Given the description of an element on the screen output the (x, y) to click on. 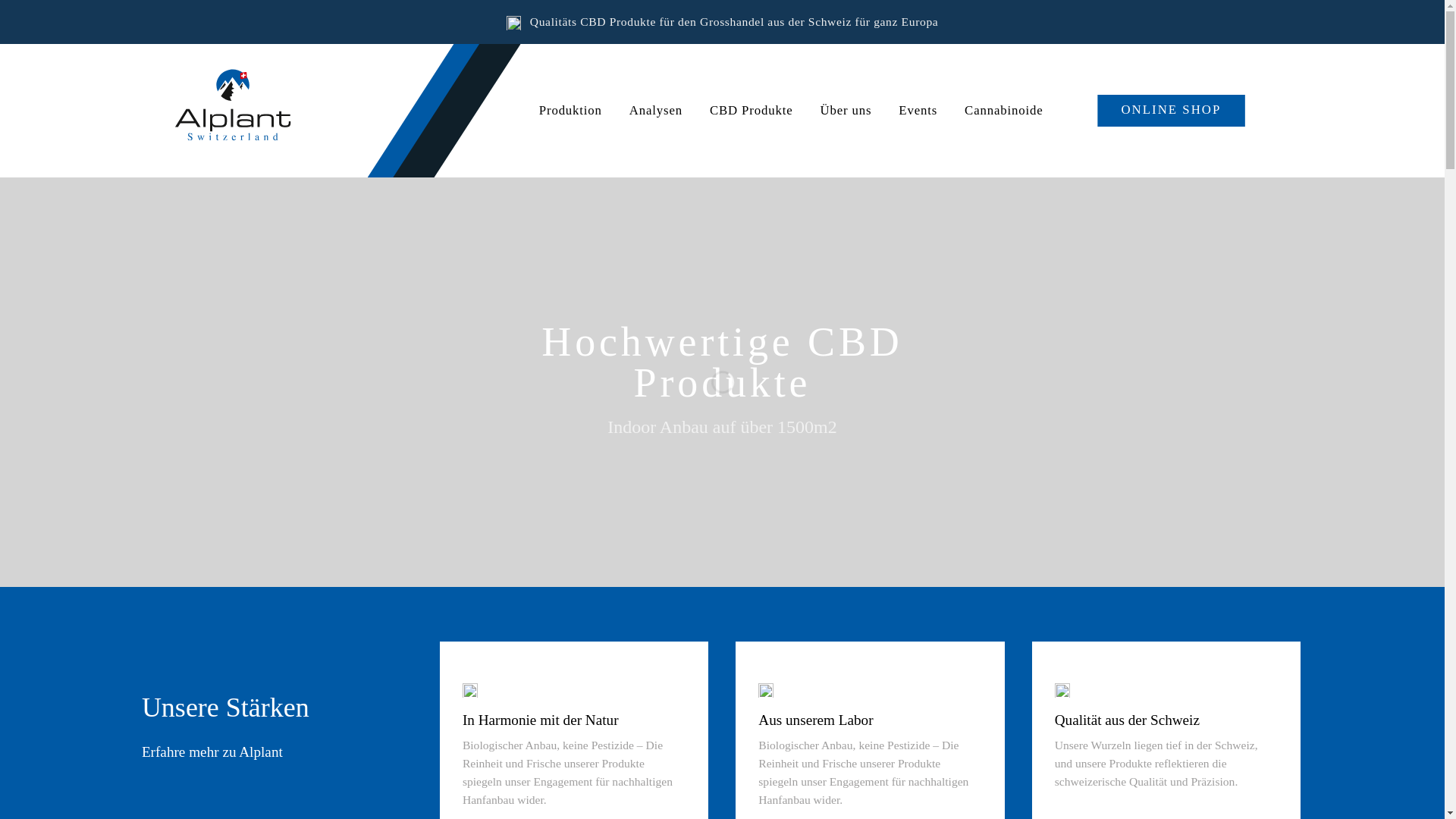
Produktion Element type: text (570, 110)
CBD Produkte Element type: text (750, 110)
Analysen Element type: text (655, 110)
Erfahre mehr zu Alplant Element type: text (211, 751)
Cannabinoide Element type: text (1003, 110)
ONLINE SHOP Element type: text (1170, 110)
Events Element type: text (917, 110)
Alplant - Hochwertige CBD Produkte Element type: hover (250, 110)
